Given the description of an element on the screen output the (x, y) to click on. 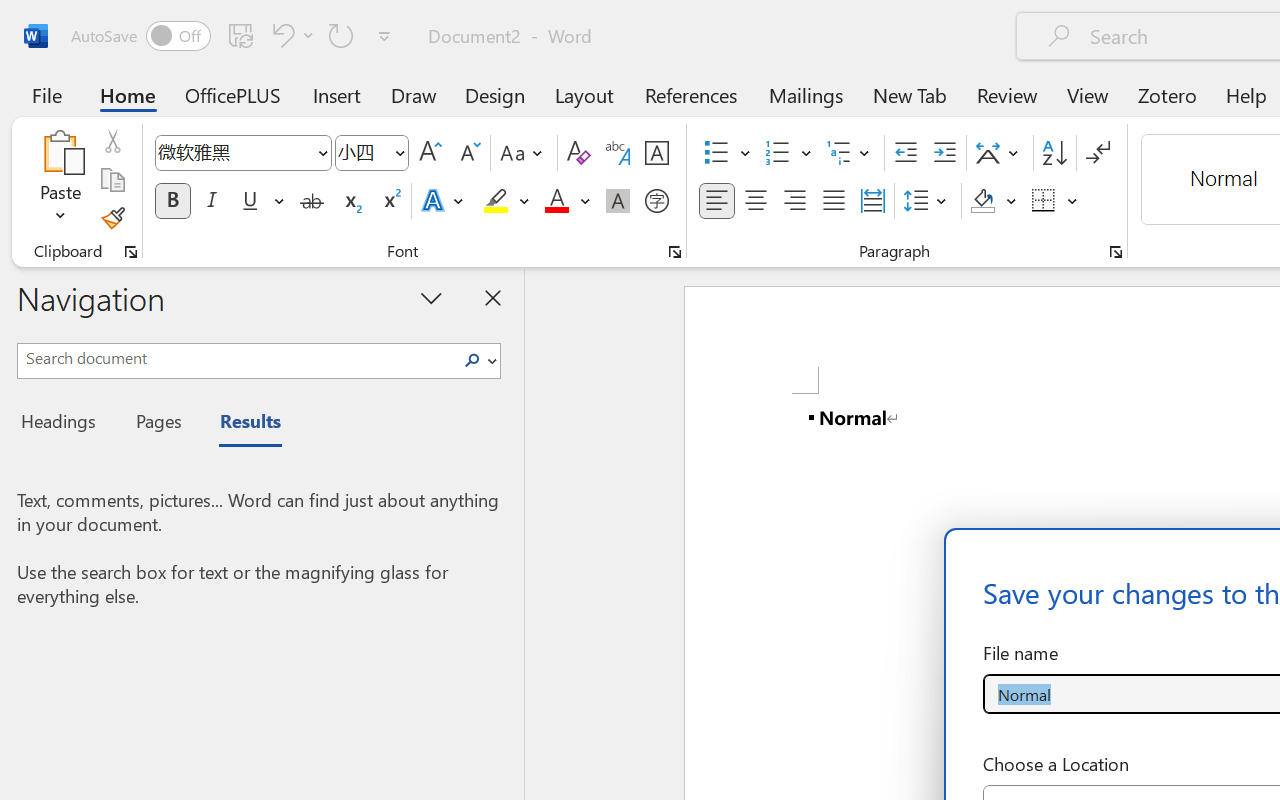
Numbering (778, 153)
Decrease Indent (906, 153)
Undo <ApplyStyleToDoc>b__0 (290, 35)
Paragraph... (1115, 252)
Headings (64, 424)
Font Color Red (556, 201)
Font (234, 152)
Bullets (727, 153)
Justify (834, 201)
Font Size (372, 153)
Quick Access Toolbar (233, 36)
Font... (675, 252)
Customize Quick Access Toolbar (384, 35)
Grow Font (430, 153)
